Given the description of an element on the screen output the (x, y) to click on. 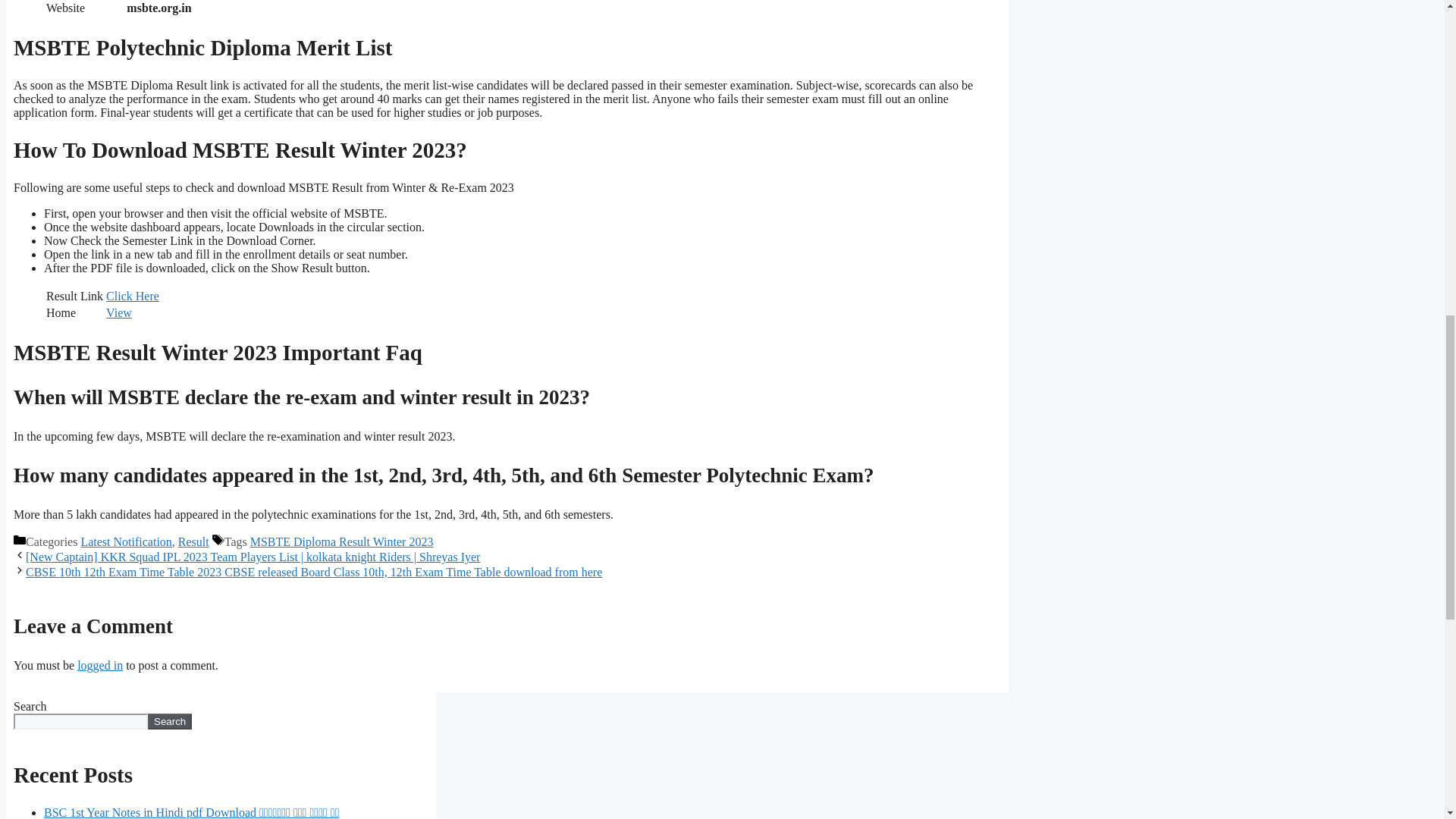
Search (170, 721)
View (119, 312)
logged in (99, 665)
Latest Notification (125, 541)
Click Here (132, 295)
MSBTE Diploma Result Winter 2023 (341, 541)
Result (193, 541)
